Given the description of an element on the screen output the (x, y) to click on. 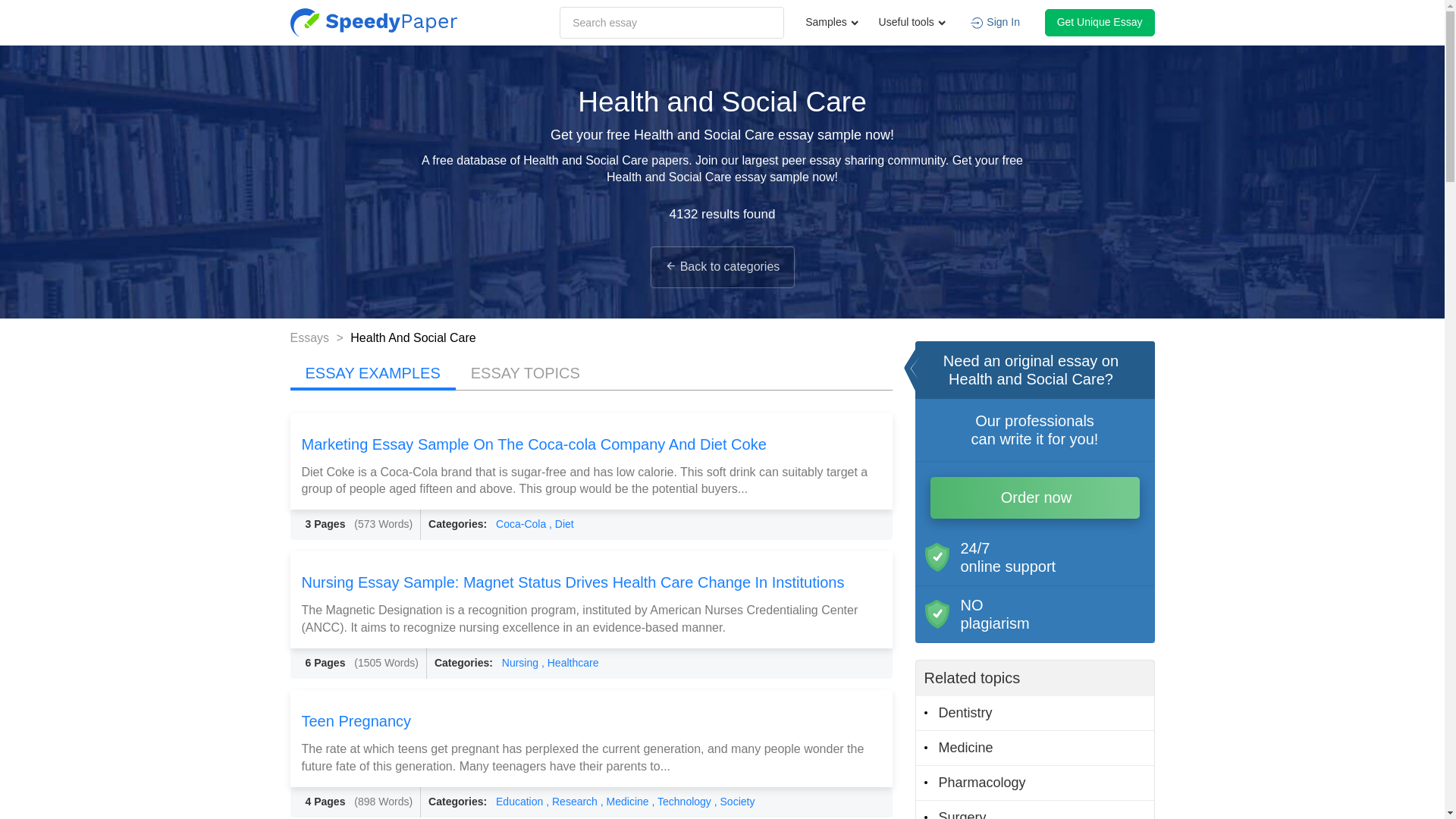
Get Unique Essay (1099, 22)
